Given the description of an element on the screen output the (x, y) to click on. 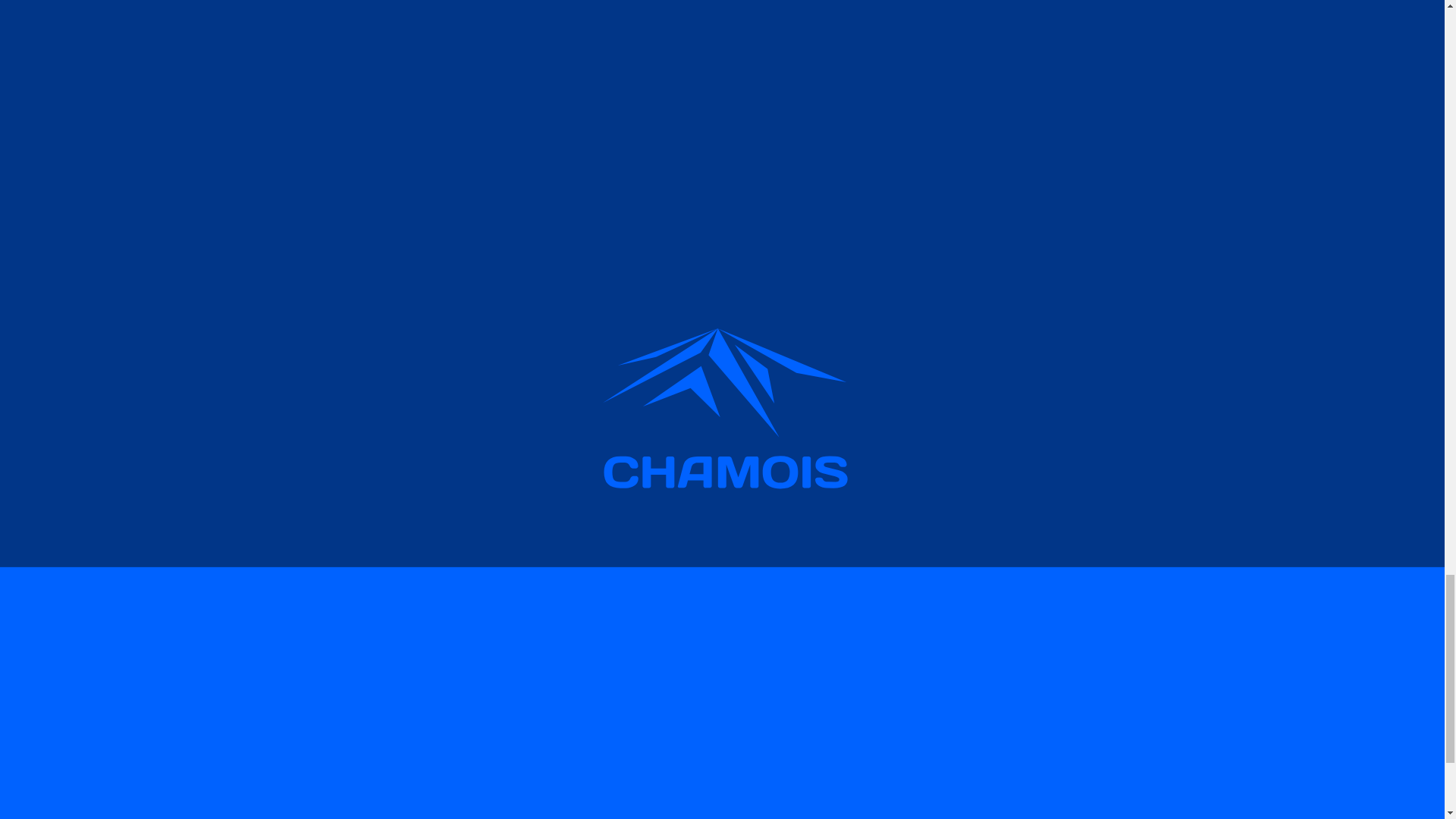
Get in touch (721, 586)
About Us (914, 777)
Our Work (914, 814)
Media Hub (918, 797)
